Given the description of an element on the screen output the (x, y) to click on. 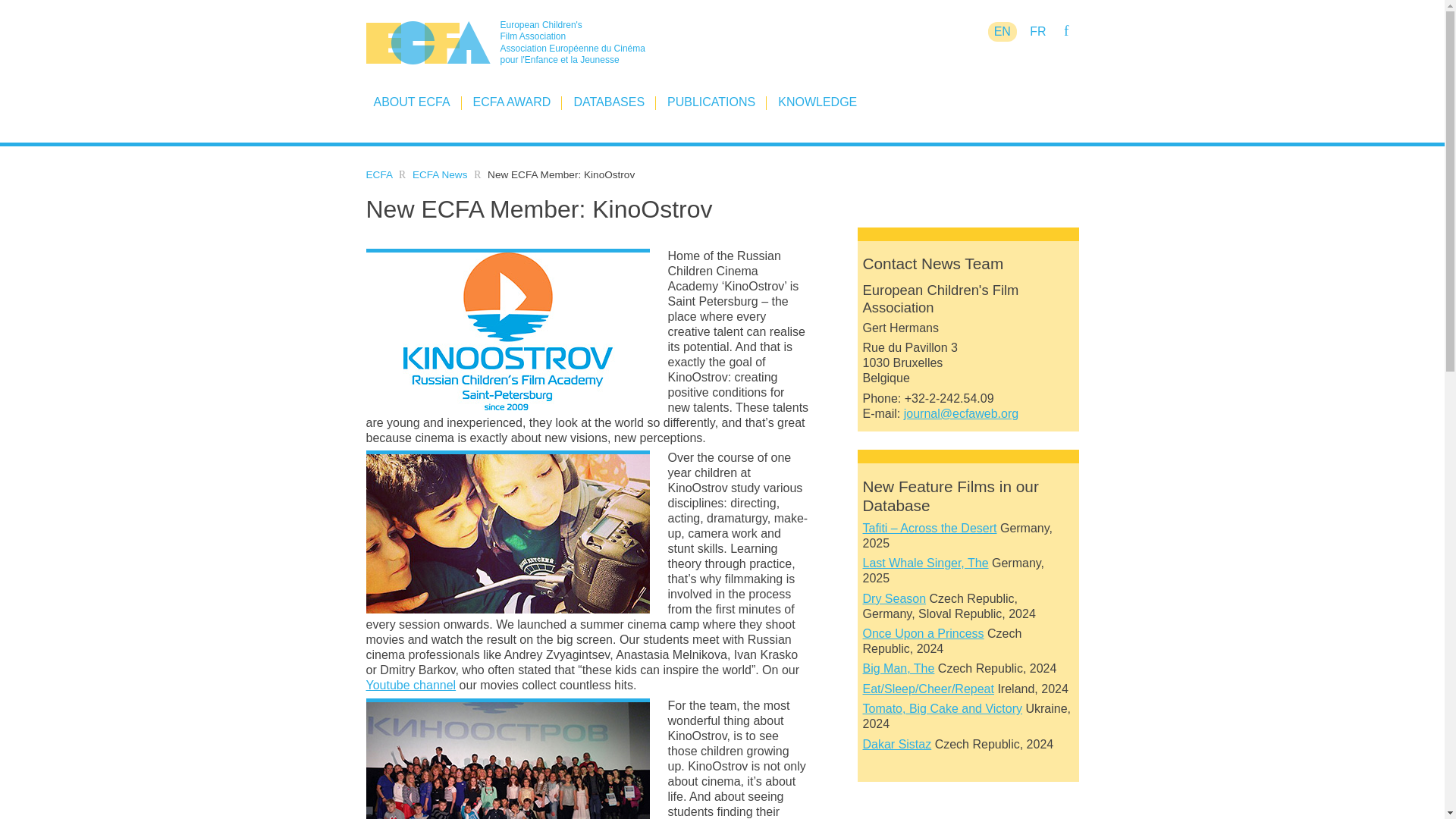
ECFA News (439, 174)
ECFA AWARD (512, 102)
ABOUT ECFA (411, 102)
DATABASES (609, 102)
Click for further information! (898, 667)
Click for further information! (925, 562)
Click for further information! (928, 688)
Click for further information! (894, 598)
FR (1037, 31)
Click for further information! (930, 527)
